Given the description of an element on the screen output the (x, y) to click on. 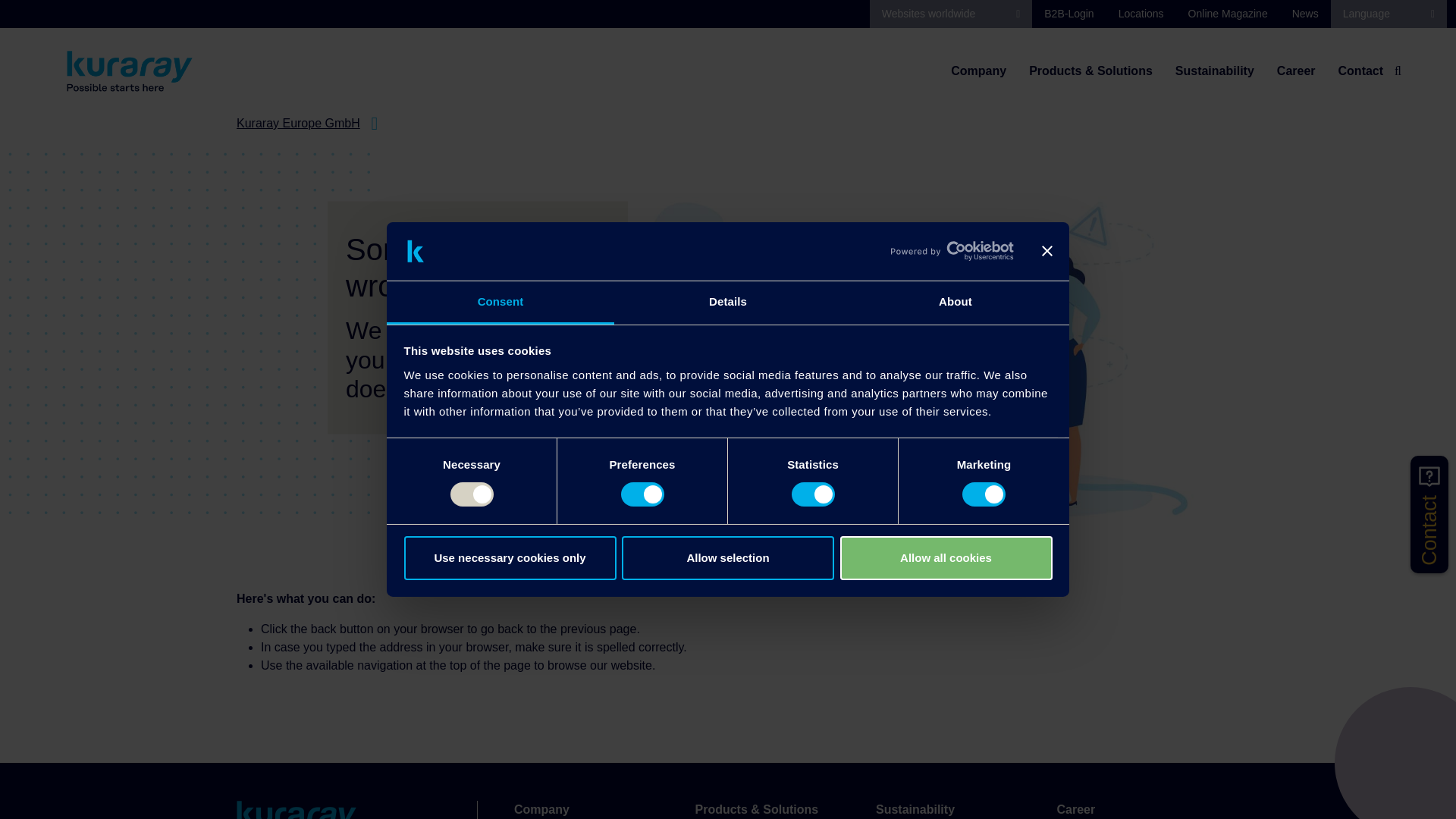
Company (978, 70)
Consent (500, 302)
Locations (1141, 13)
Allow all cookies (946, 557)
B2B-Login (1068, 13)
Use necessary cookies only (509, 557)
Websites worldwide (950, 13)
Allow selection (727, 557)
Online Magazine (1227, 13)
Details (727, 302)
